Given the description of an element on the screen output the (x, y) to click on. 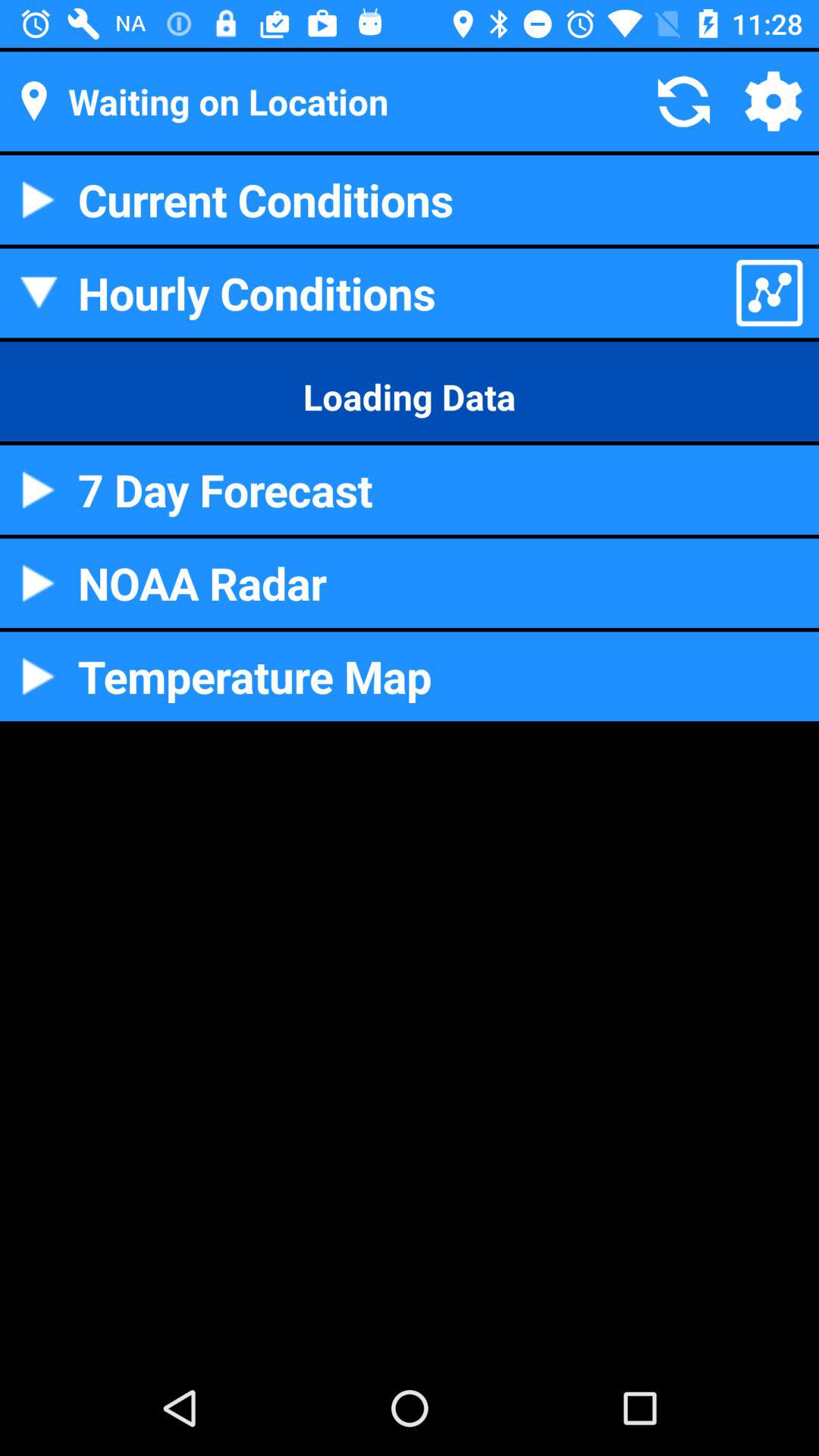
move to the location icon (34, 100)
select the icon on right side of text hourly conditions (769, 292)
click on the refresh symbol which is next to waiting on location (684, 101)
